Given the description of an element on the screen output the (x, y) to click on. 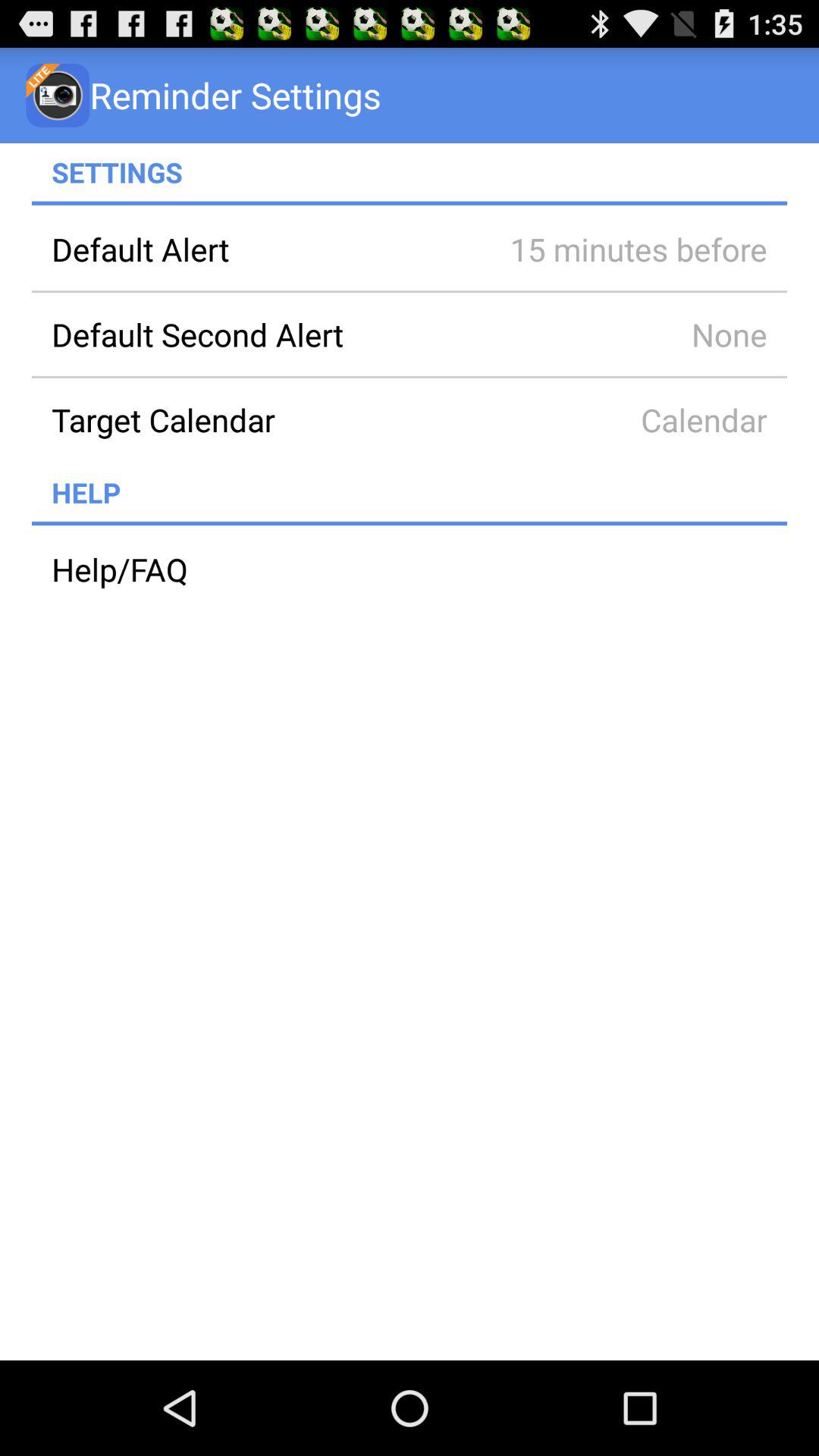
turn on the item below none app (259, 419)
